Given the description of an element on the screen output the (x, y) to click on. 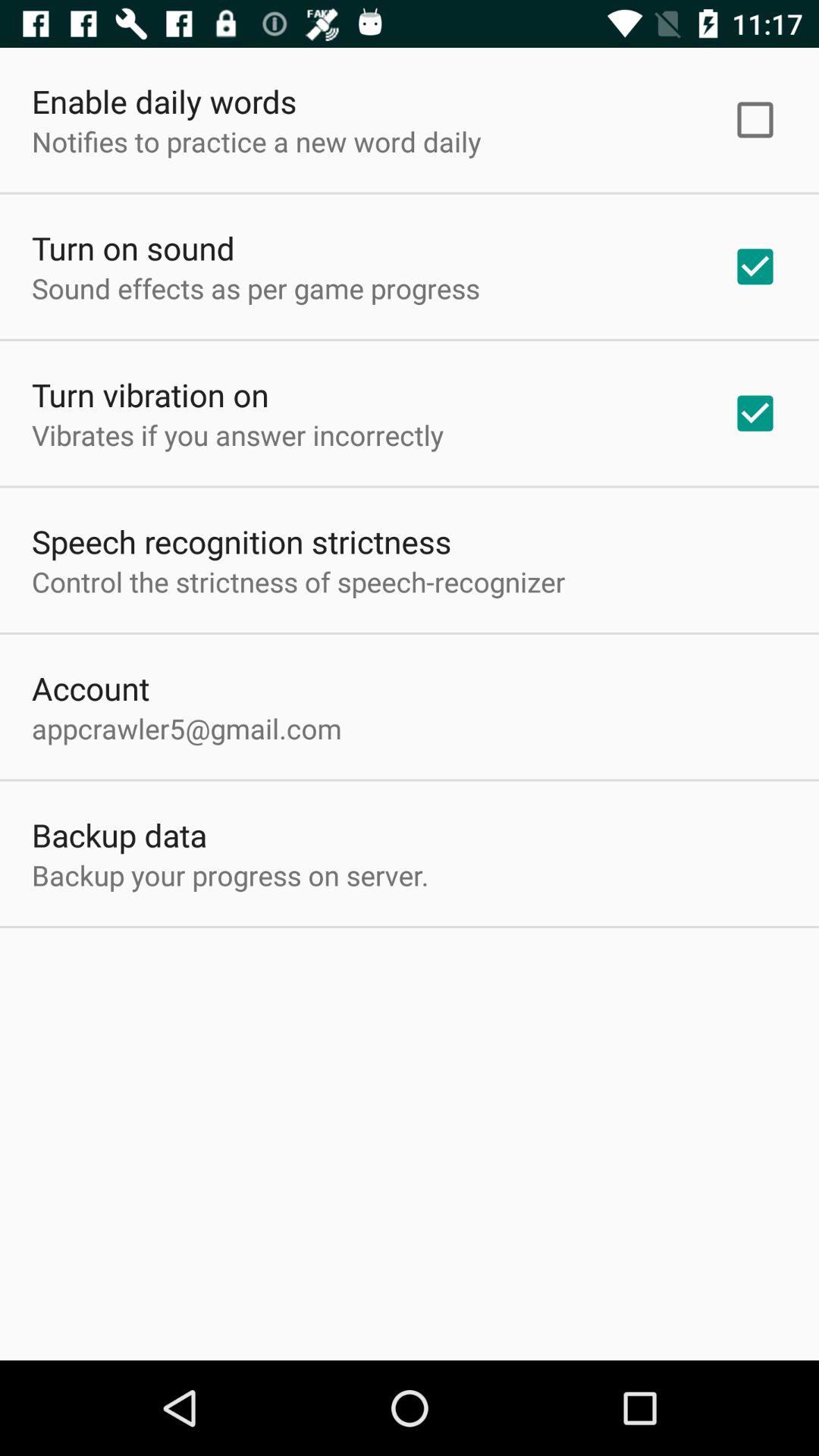
choose app above the appcrawler5@gmail.com icon (90, 687)
